Given the description of an element on the screen output the (x, y) to click on. 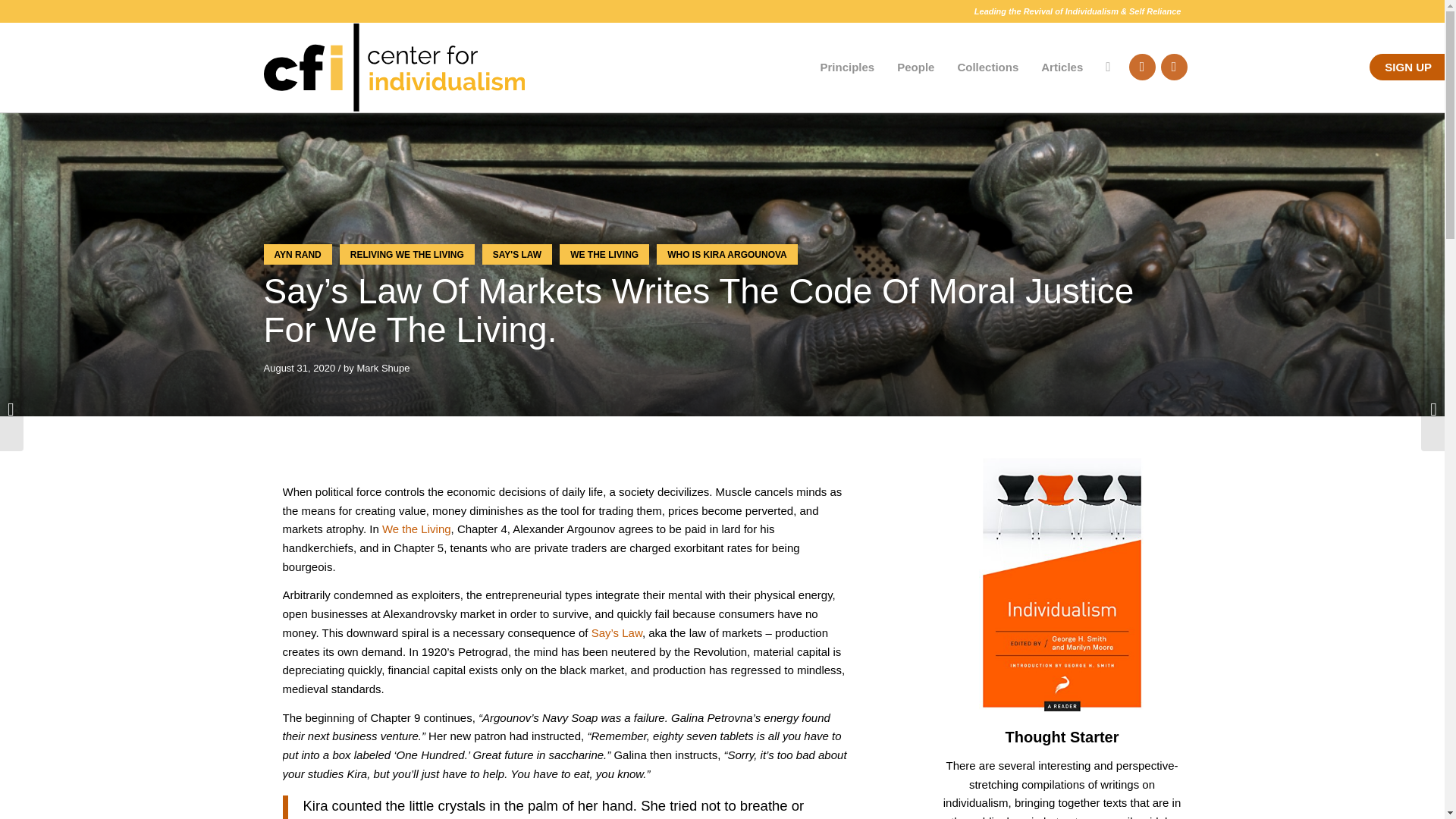
WE THE LIVING (604, 254)
Facebook (1173, 67)
Mark Shupe (382, 367)
WHO IS KIRA ARGOUNOVA (726, 254)
Twitter (1141, 67)
AYN RAND (297, 254)
RELIVING WE THE LIVING (406, 254)
SAY'S LAW (516, 254)
Collections (986, 67)
We the Living (416, 528)
